Given the description of an element on the screen output the (x, y) to click on. 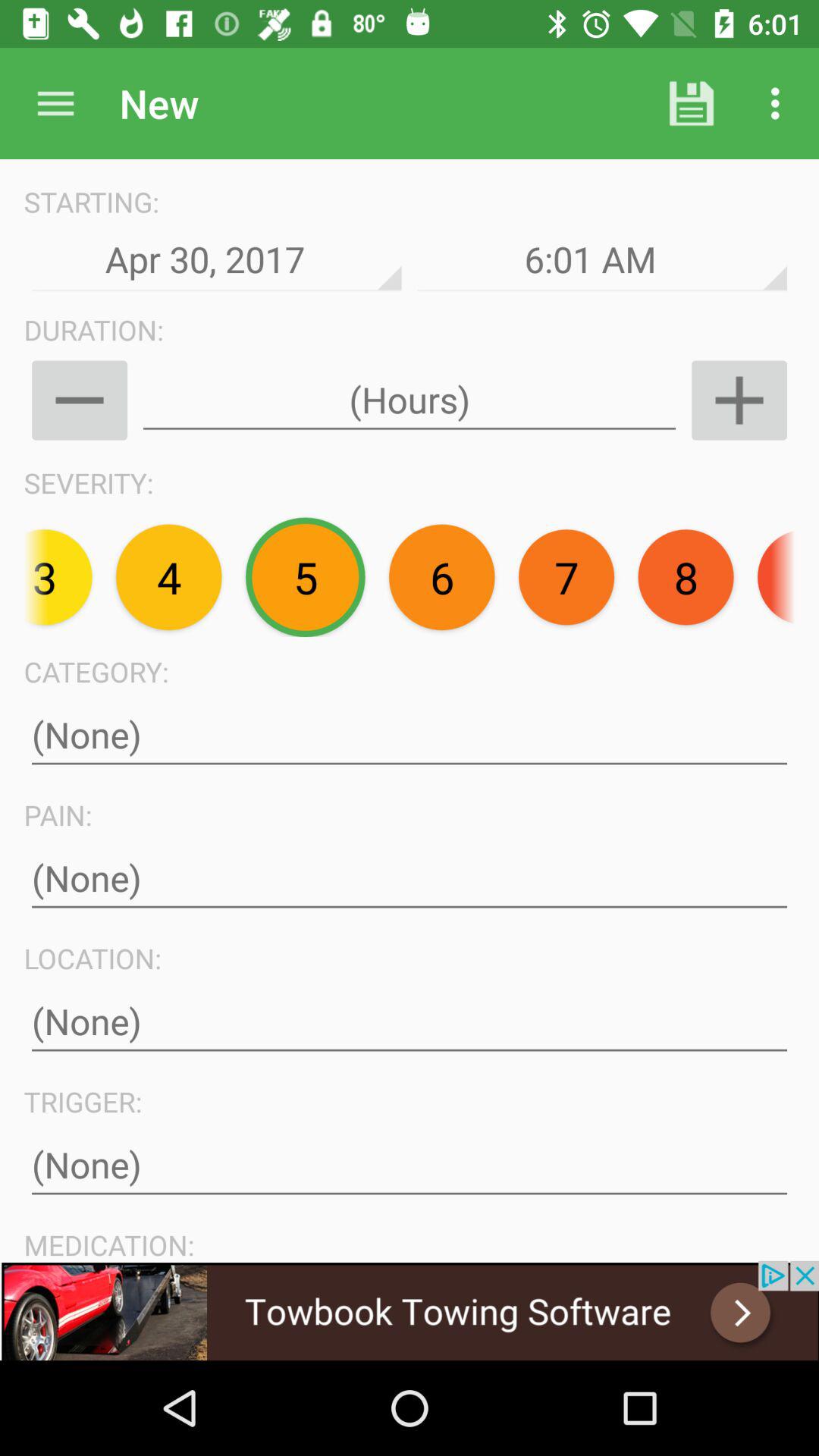
search (55, 103)
